Given the description of an element on the screen output the (x, y) to click on. 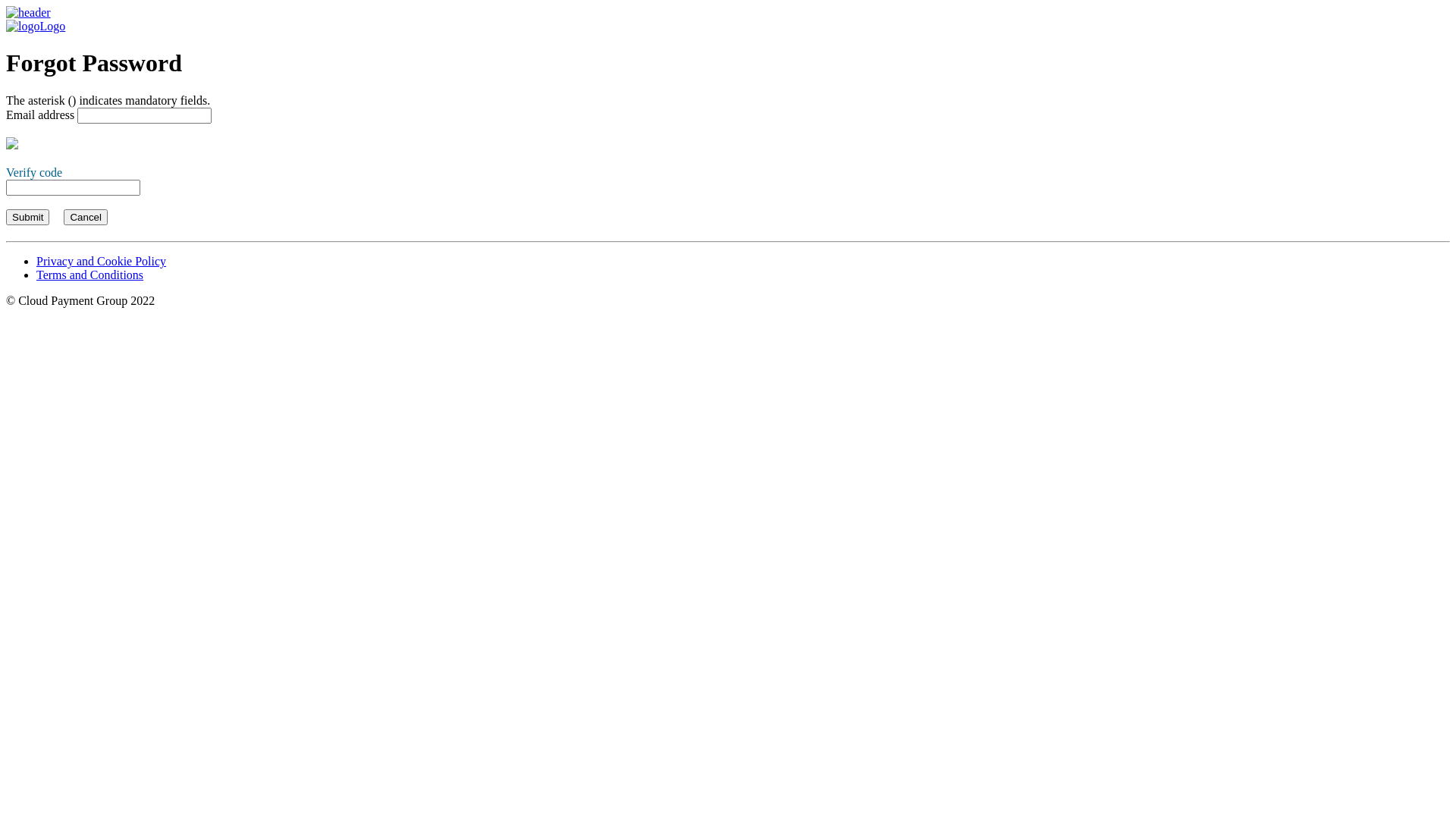
Privacy and Cookie Policy Element type: text (101, 260)
Submit Element type: text (27, 217)
Cancel Element type: text (85, 217)
Terms and Conditions Element type: text (89, 274)
Logo Element type: text (727, 19)
